Given the description of an element on the screen output the (x, y) to click on. 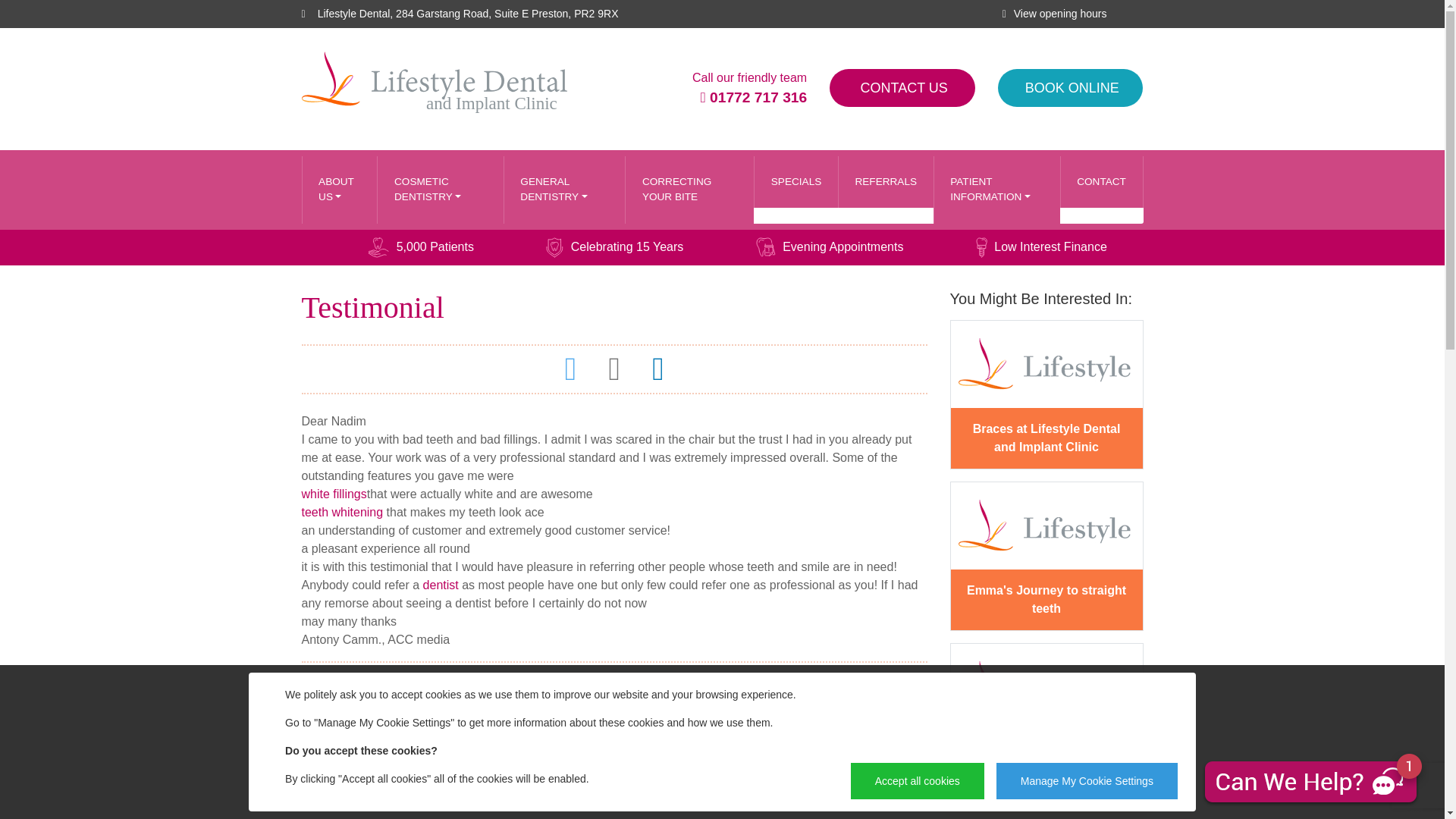
Cosmetic Dentistry (439, 189)
CORRECTING YOUR BITE (689, 189)
View opening hours (1058, 13)
ABOUT US (339, 189)
01772 717 316 (753, 97)
CONTACT US (902, 87)
Book online (1069, 87)
01772 717 316 (753, 97)
COSMETIC DENTISTRY (439, 189)
